Given the description of an element on the screen output the (x, y) to click on. 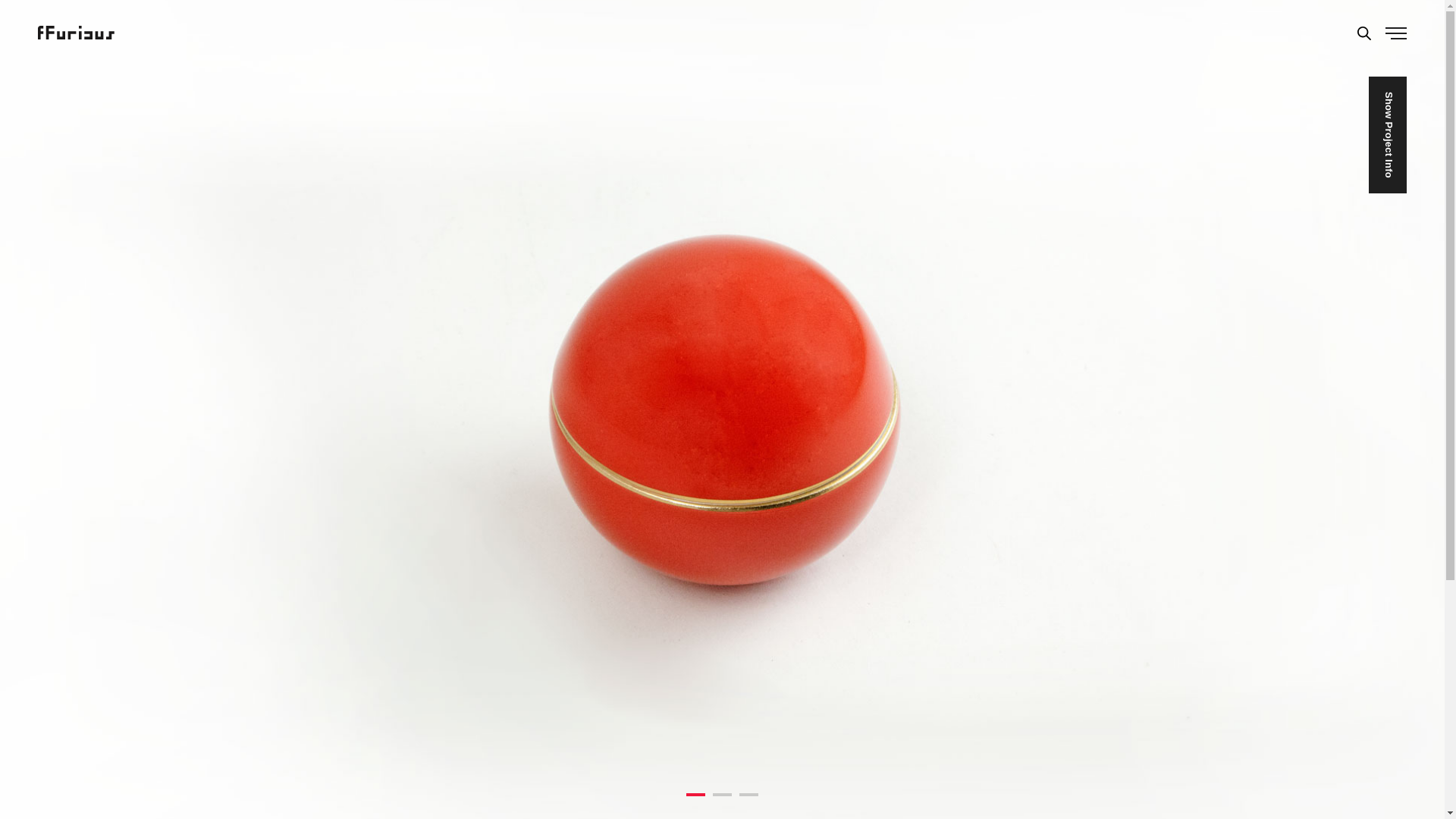
fFurious (76, 32)
Search (1363, 33)
Facebook (896, 648)
Instagram (896, 668)
Youtube (896, 687)
